Given the description of an element on the screen output the (x, y) to click on. 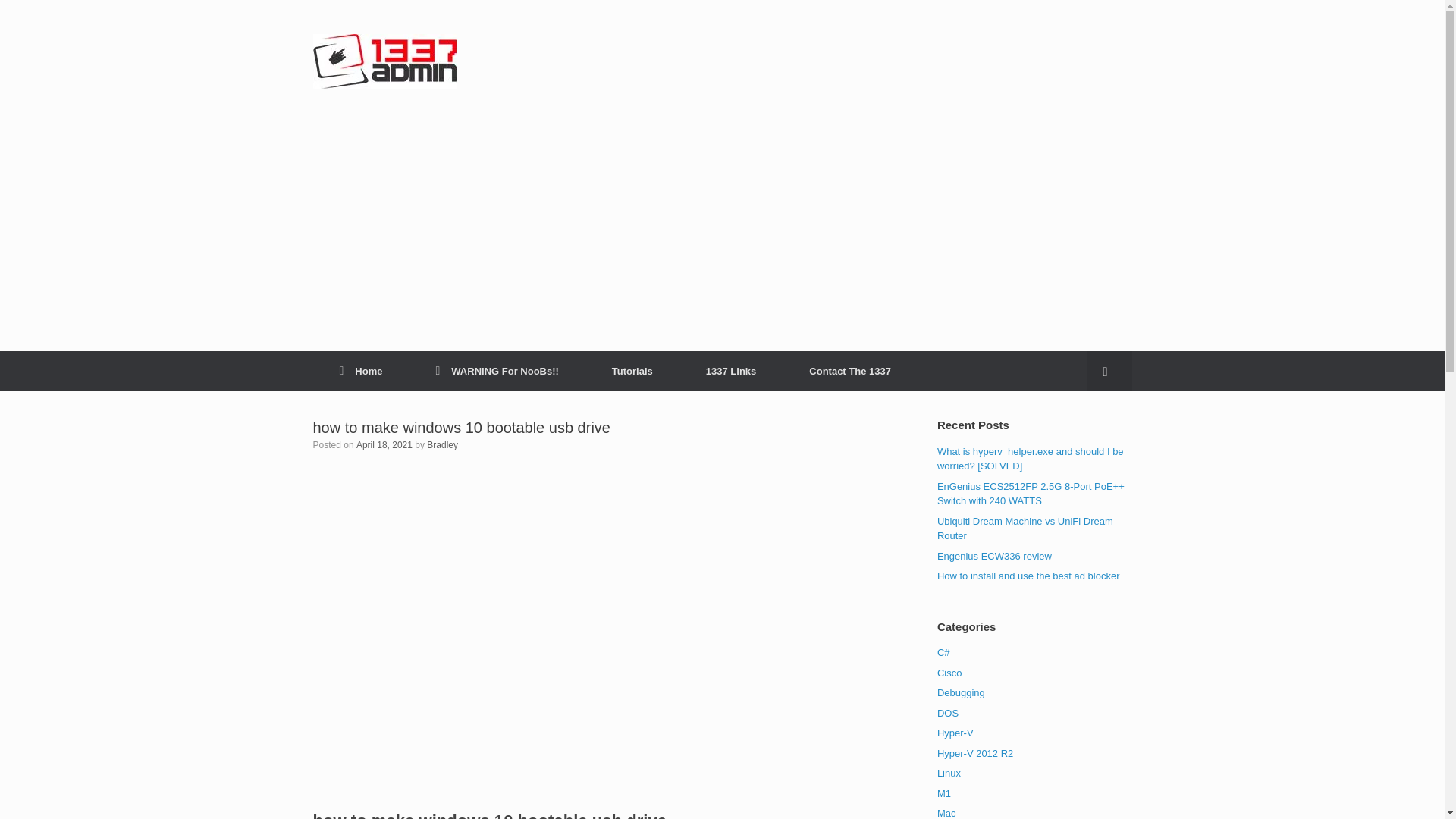
View all posts by Bradley (442, 444)
DOS (947, 712)
How to install and use the best ad blocker (1028, 575)
Contact The 1337 (850, 371)
Engenius ECW336 review (994, 555)
Tutorials (632, 371)
Debugging (961, 692)
Home (361, 371)
WARNING For NooBs!! (497, 371)
